Given the description of an element on the screen output the (x, y) to click on. 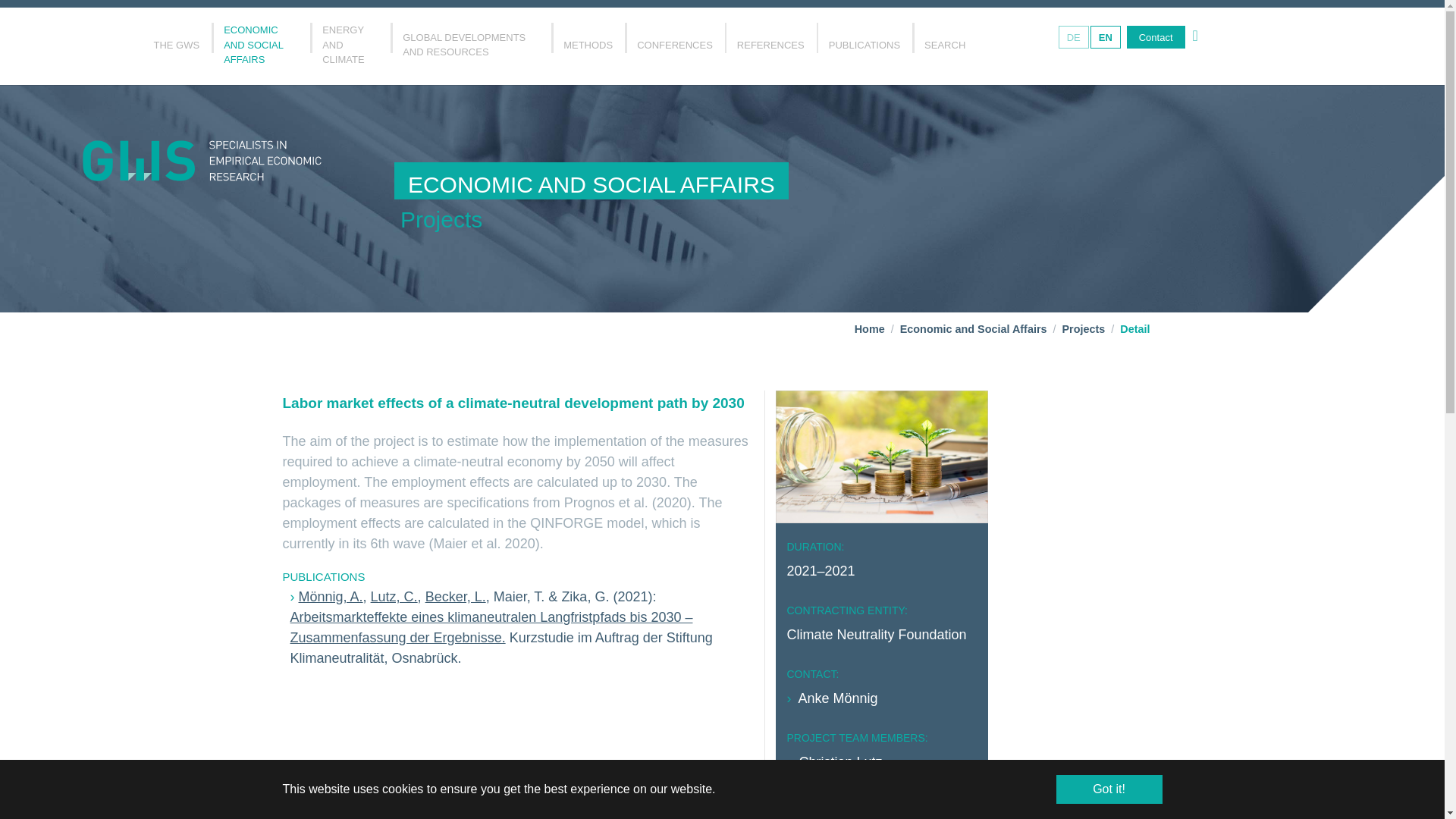
PUBLICATIONS (864, 47)
REFERENCES (770, 47)
CONFERENCES (674, 47)
Energy and Climate (350, 47)
The GWS (176, 47)
Economic and Social Affairs (260, 47)
GLOBAL DEVELOPMENTS AND RESOURCES (470, 47)
METHODS (587, 47)
ECONOMIC AND SOCIAL AFFAIRS (260, 47)
ENERGY AND CLIMATE (350, 47)
Got it! (1108, 788)
THE GWS (176, 47)
